Given the description of an element on the screen output the (x, y) to click on. 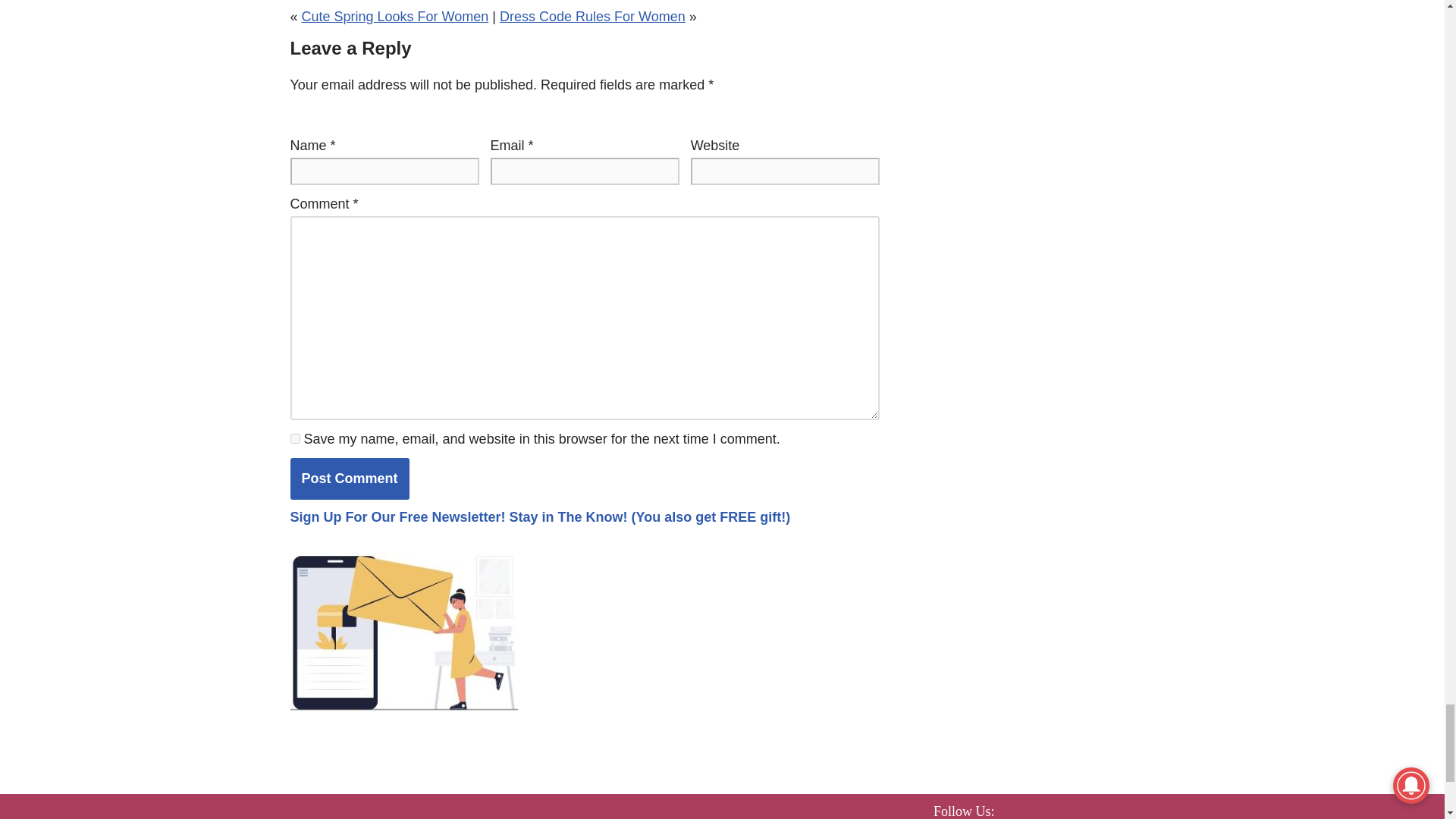
Post Comment (349, 478)
yes (294, 438)
